Given the description of an element on the screen output the (x, y) to click on. 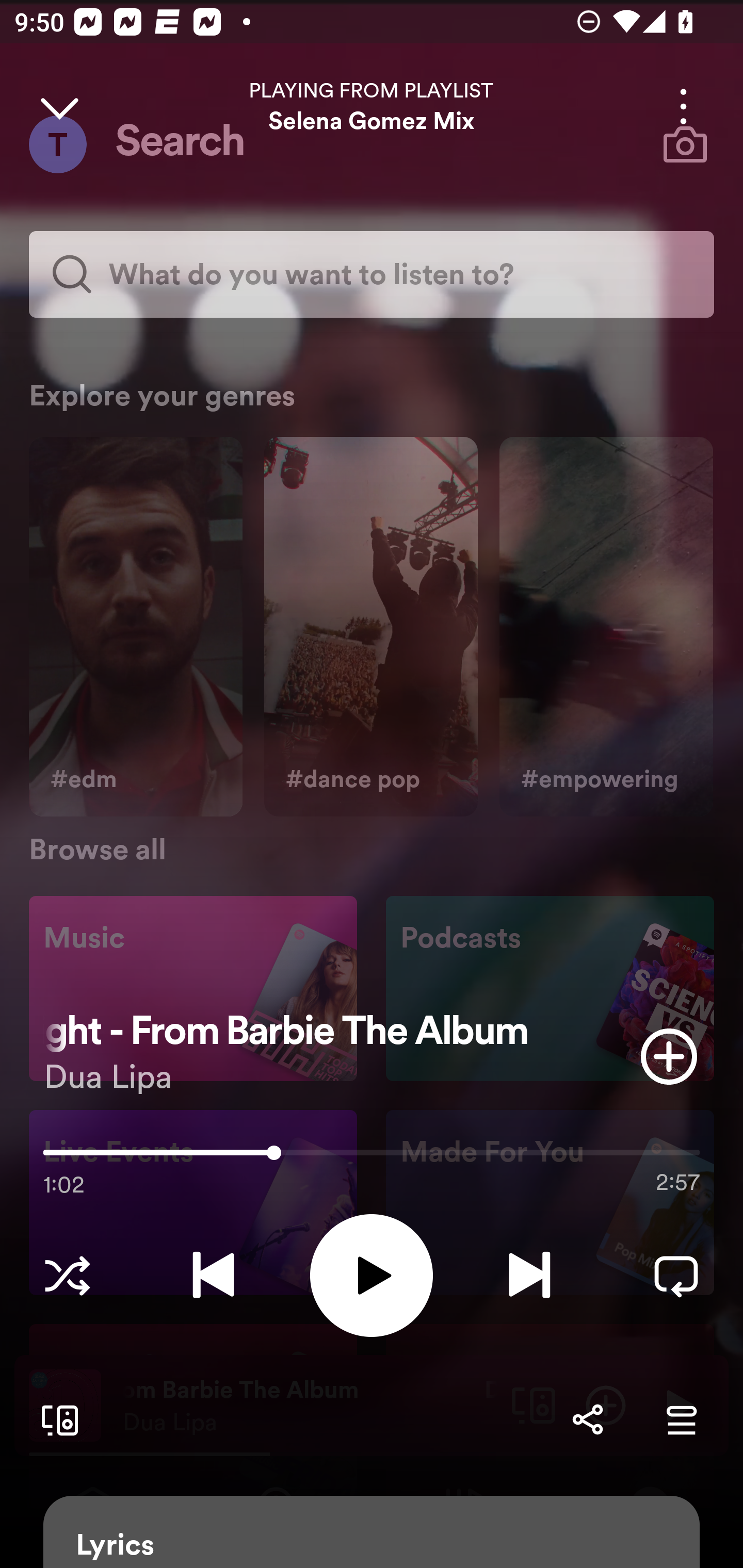
Close (59, 106)
PLAYING FROM PLAYLIST Selena Gomez Mix (371, 106)
Add item (669, 1056)
1:02 2:57 62230.0 Use volume keys to adjust (371, 1157)
Play (371, 1275)
Previous (212, 1275)
Next (529, 1275)
Choose a Listening Mode (66, 1275)
Repeat (676, 1275)
Share (587, 1419)
Go to Queue (681, 1419)
Connect to a device. Opens the devices menu (55, 1419)
Lyrics (371, 1531)
